Given the description of an element on the screen output the (x, y) to click on. 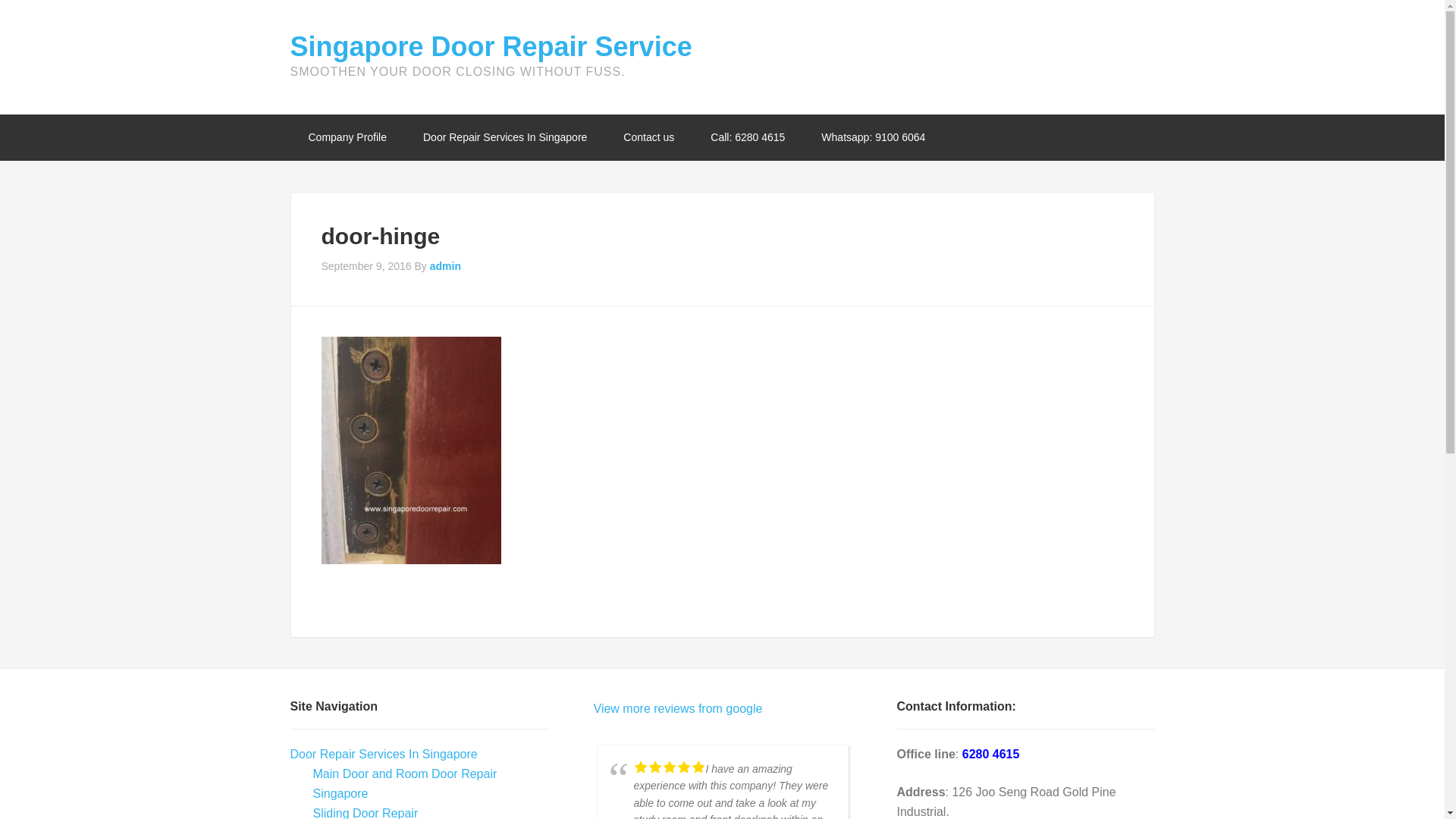
Door Repair Services In Singapore (383, 753)
Contact us (649, 137)
Door Repair Services In Singapore (504, 137)
Main Door and Room Door Repair Singapore (404, 783)
Company Profile (346, 137)
Whatsapp: 9100 6064 (873, 137)
admin (445, 265)
Call: 6280 4615 (748, 137)
Singapore Door Repair Service (490, 46)
Sliding Door Repair (365, 812)
